Given the description of an element on the screen output the (x, y) to click on. 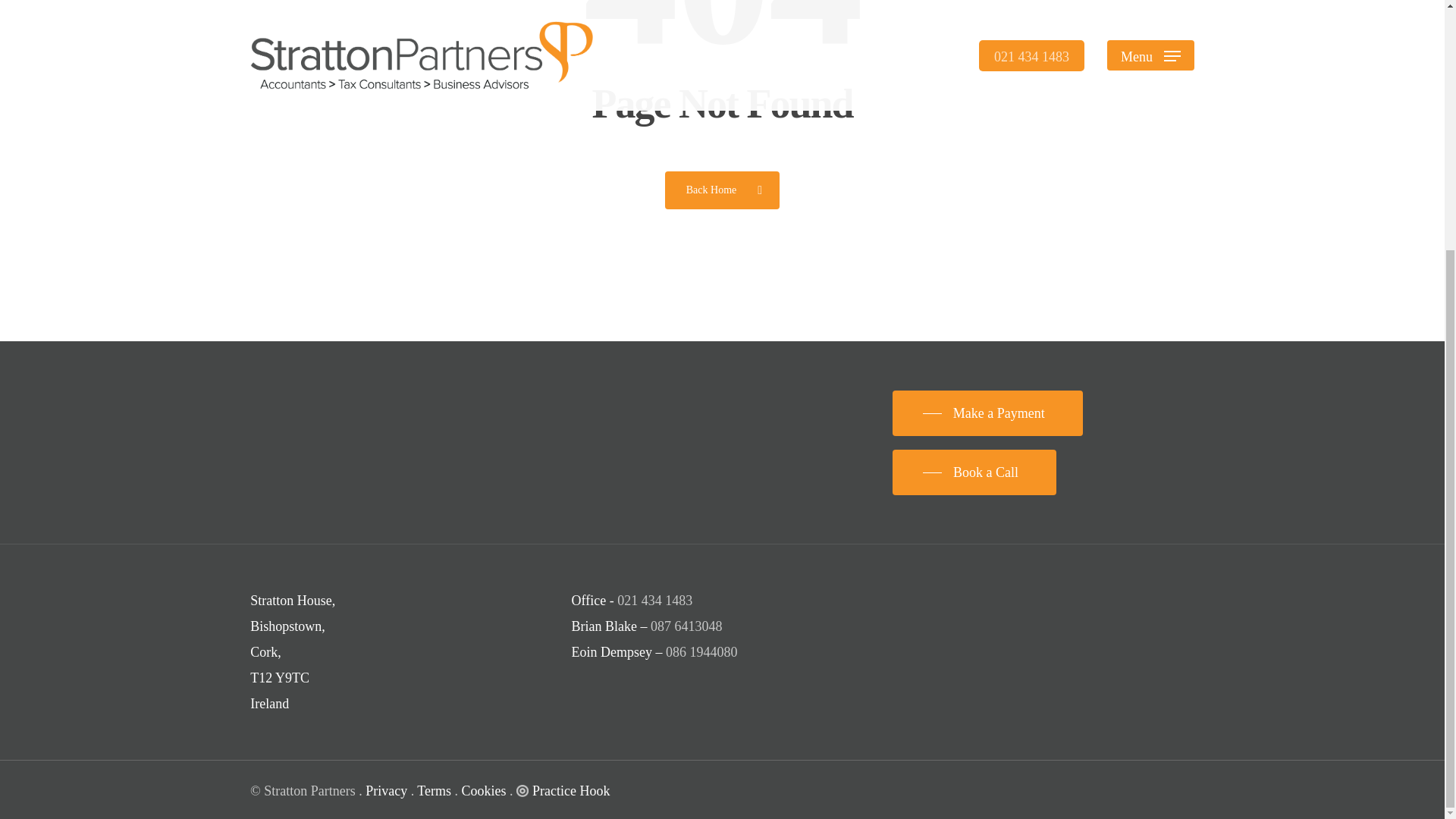
Cookies (483, 790)
087 6413048 (686, 626)
Back Home (721, 189)
Practice Hook (563, 790)
086 1944080 (701, 652)
Make a Payment (987, 412)
Book a Call (974, 472)
Terms (433, 790)
Privacy (386, 790)
021 434 1483 (655, 600)
